Given the description of an element on the screen output the (x, y) to click on. 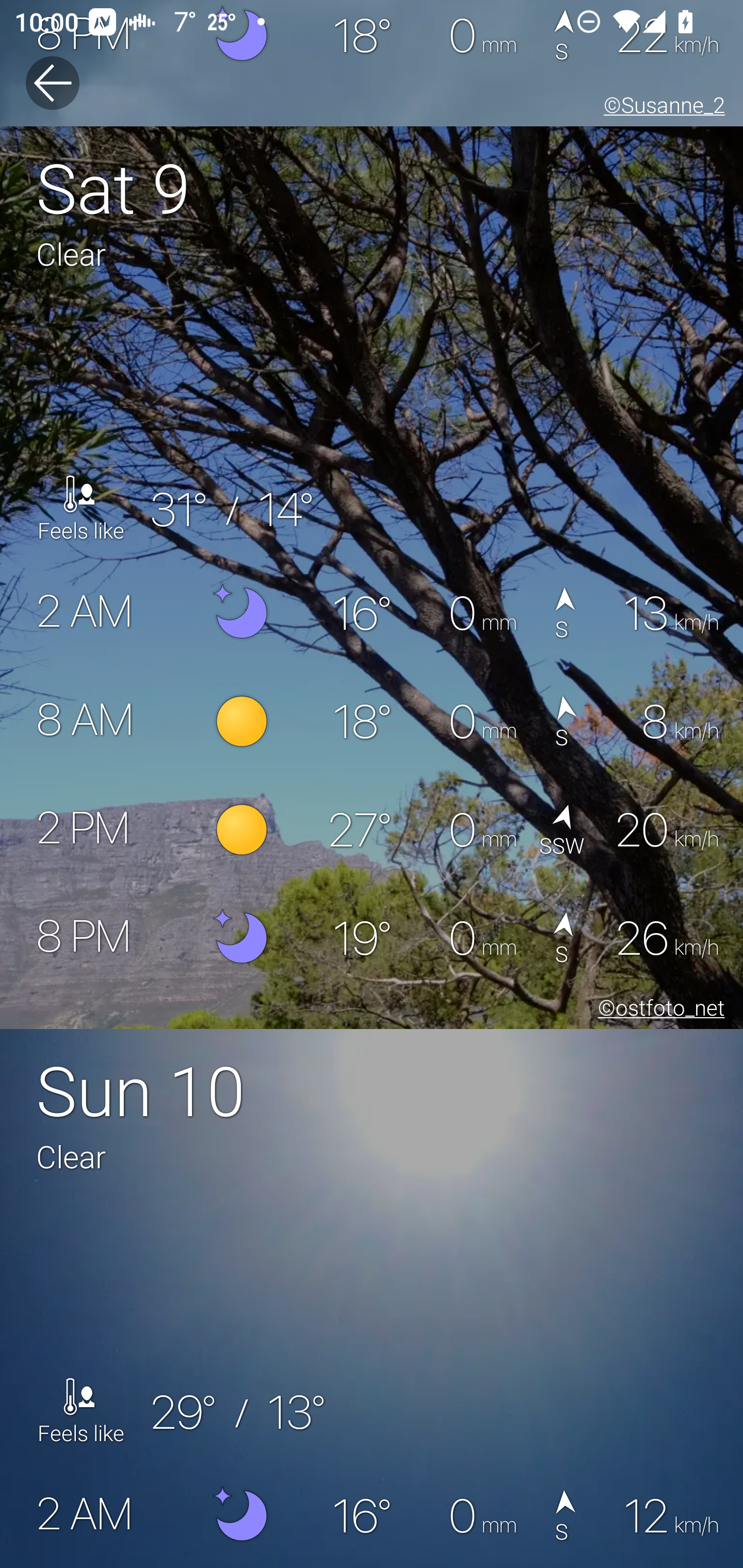
©Susanne_2 (660, 108)
2 AM 16° 0 mm  S 13 km/h (371, 613)
8 AM 18° 0 mm  S 8 km/h (371, 721)
2 PM 27° 0 mm  SSW 20 km/h (371, 830)
8 PM 19° 0 mm  S 26 km/h (371, 938)
©ostfoto_net (657, 1010)
2 AM 16° 0 mm  S 12 km/h (371, 1514)
